Given the description of an element on the screen output the (x, y) to click on. 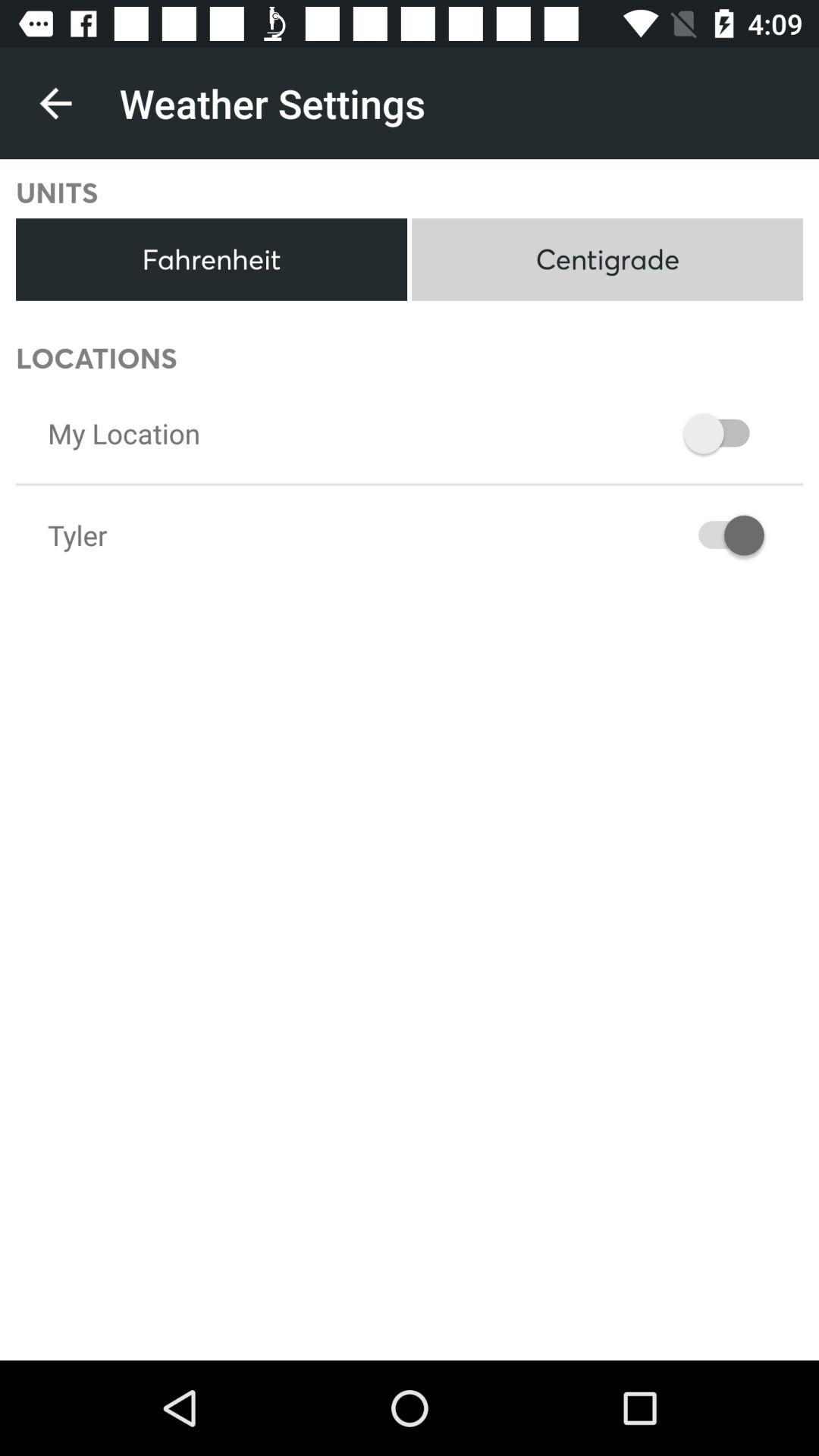
turn off the centigrade icon (607, 259)
